Given the description of an element on the screen output the (x, y) to click on. 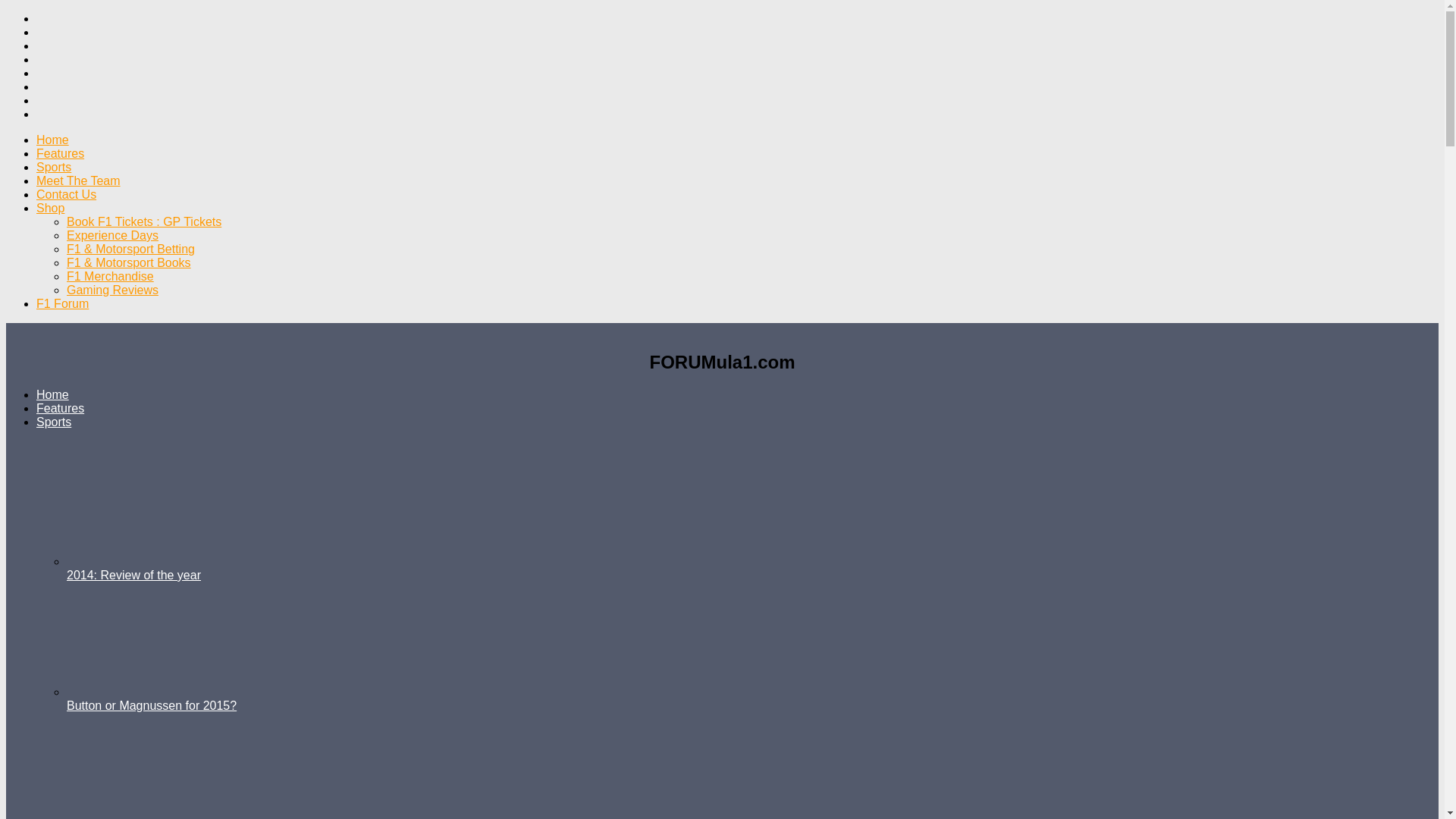
Sports (53, 166)
Features (60, 408)
Home (52, 394)
Shop (50, 207)
Sports (53, 421)
Book F1 Tickets : GP Tickets (143, 221)
Gaming Reviews (112, 289)
F1 Merchandise (110, 276)
Experience Days (112, 235)
F1 Forum (62, 303)
Home (52, 139)
Features (60, 153)
Meet The Team (78, 180)
Contact Us (66, 194)
